Given the description of an element on the screen output the (x, y) to click on. 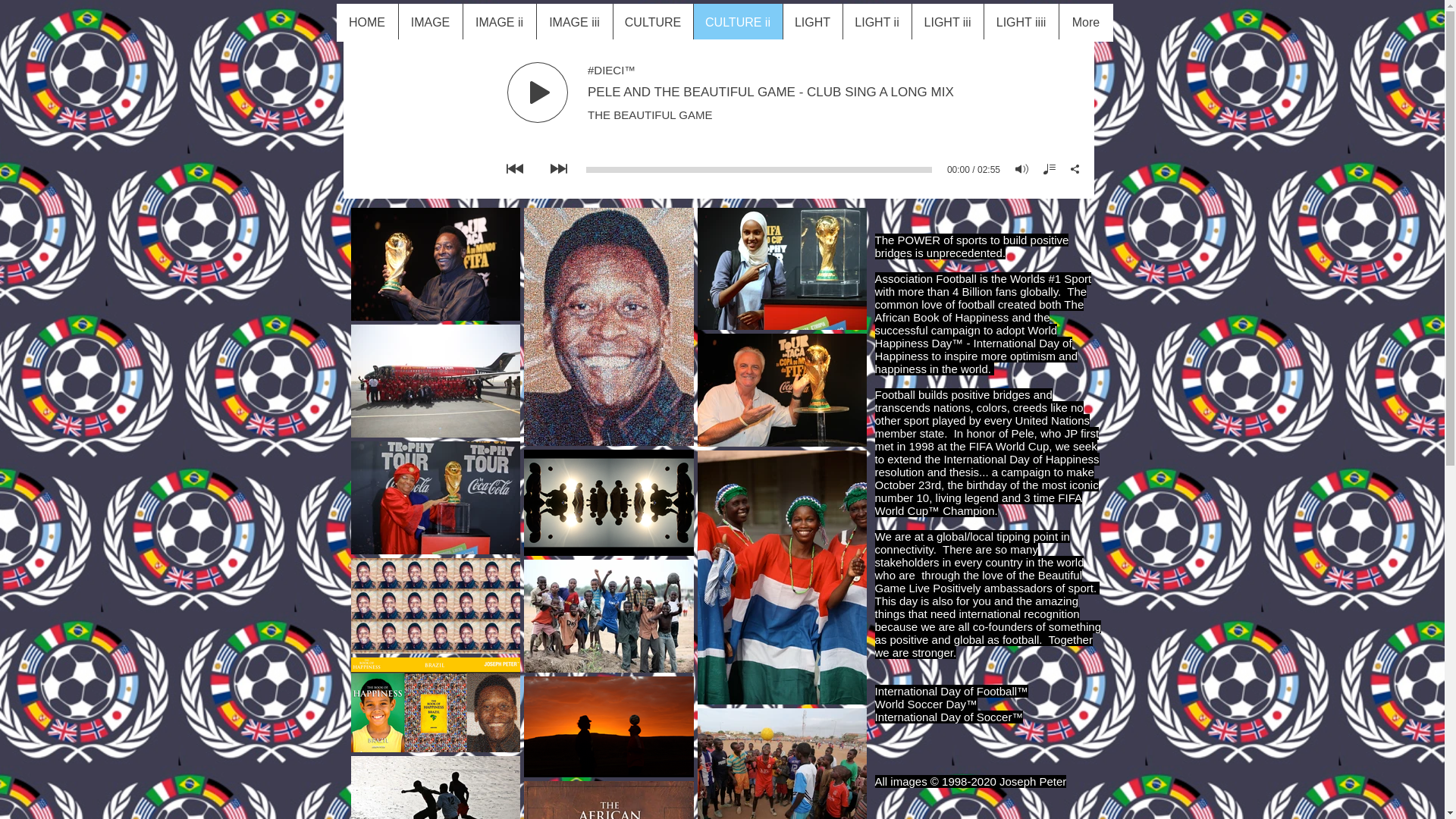
LIGHT iii (947, 22)
IMAGE ii (499, 22)
CULTURE (652, 22)
HOME (366, 22)
LIGHT ii (876, 22)
LIGHT (813, 22)
IMAGE iii (573, 22)
CULTURE ii (738, 22)
Wix Music (717, 119)
LIGHT iiii (1020, 22)
